Given the description of an element on the screen output the (x, y) to click on. 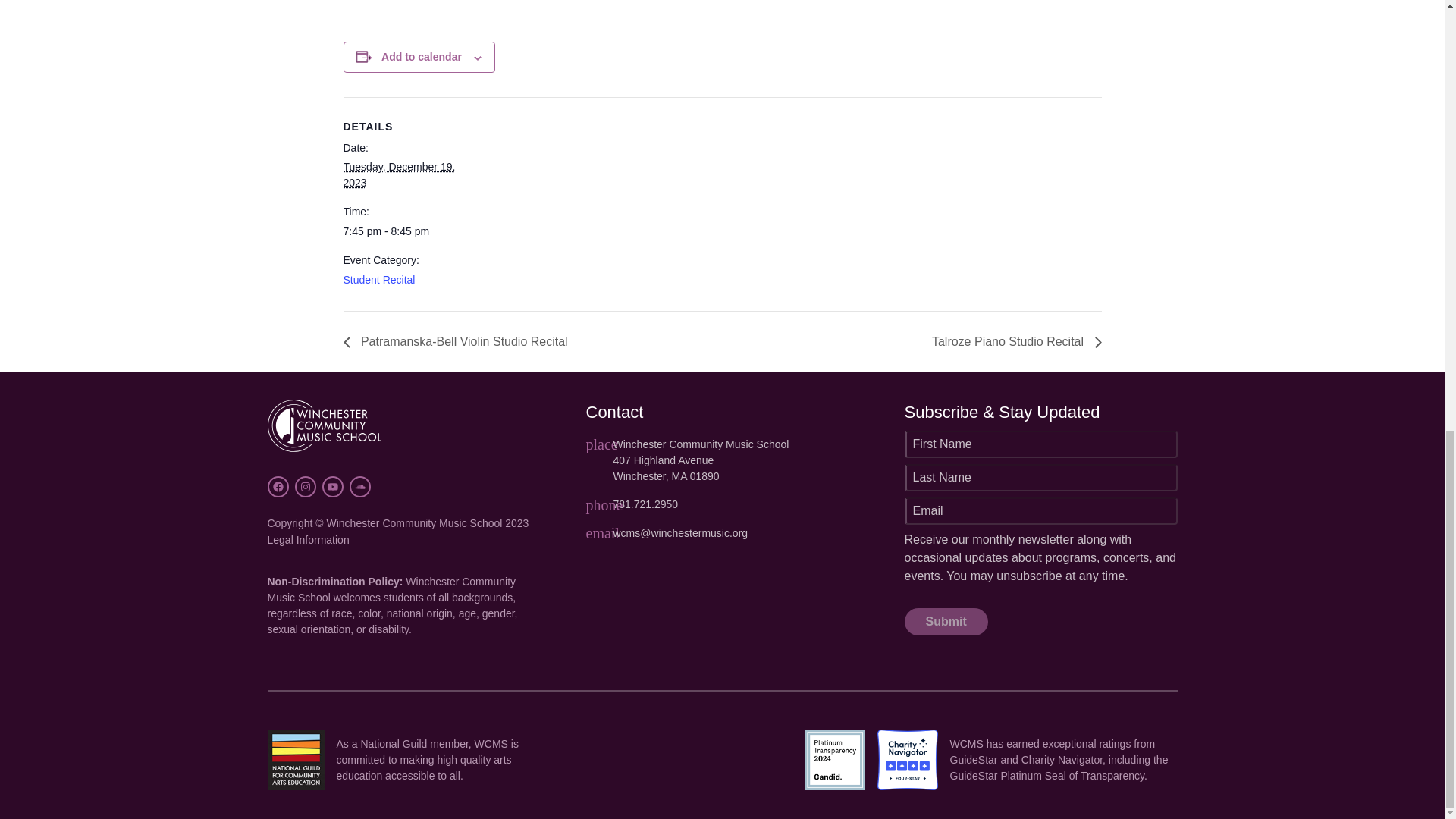
2023-12-19 (398, 174)
Submit (945, 621)
2023-12-19 (406, 231)
